Given the description of an element on the screen output the (x, y) to click on. 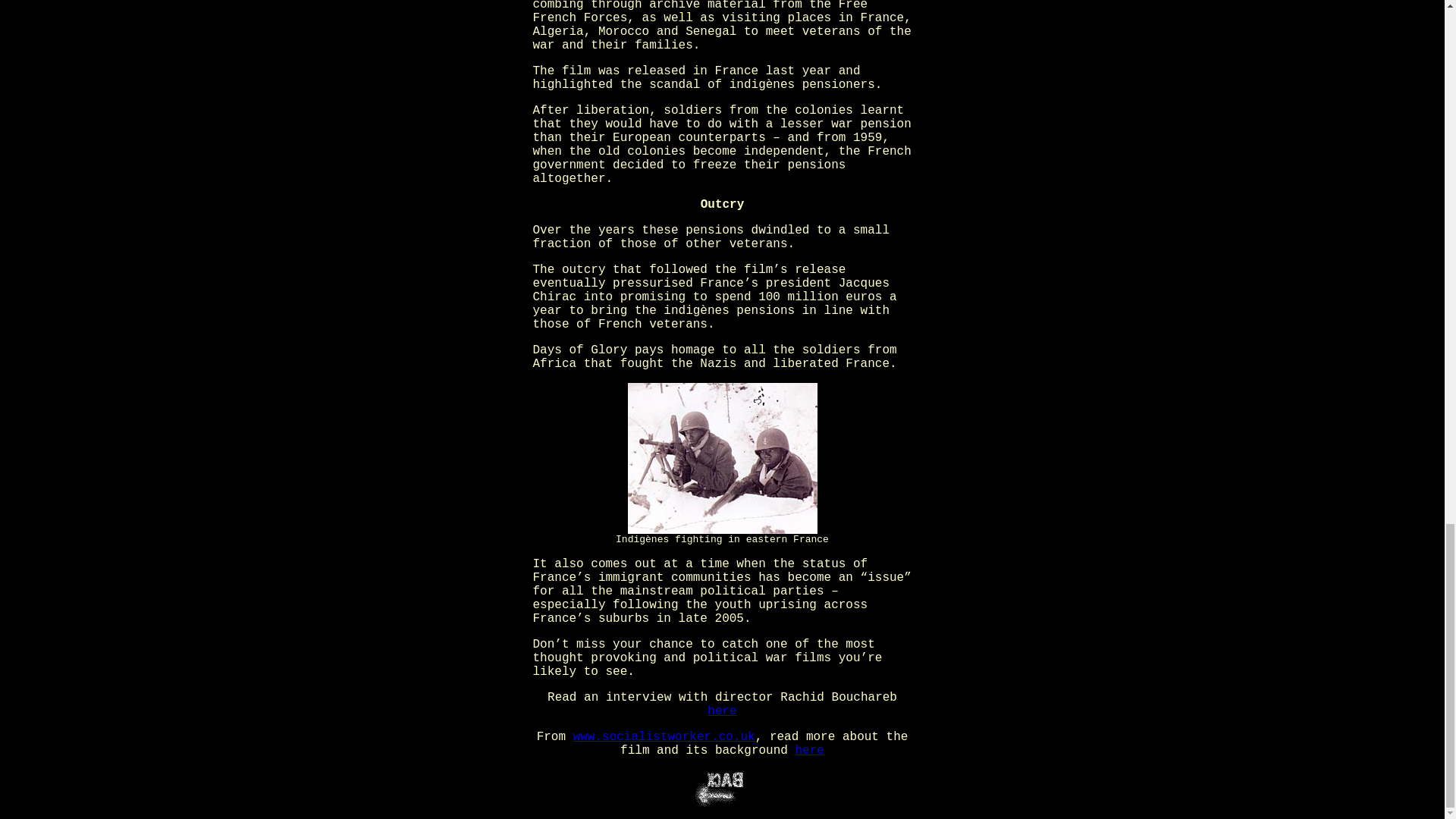
here (809, 750)
here (721, 711)
www.socialistworker.co.uk (664, 736)
